Given the description of an element on the screen output the (x, y) to click on. 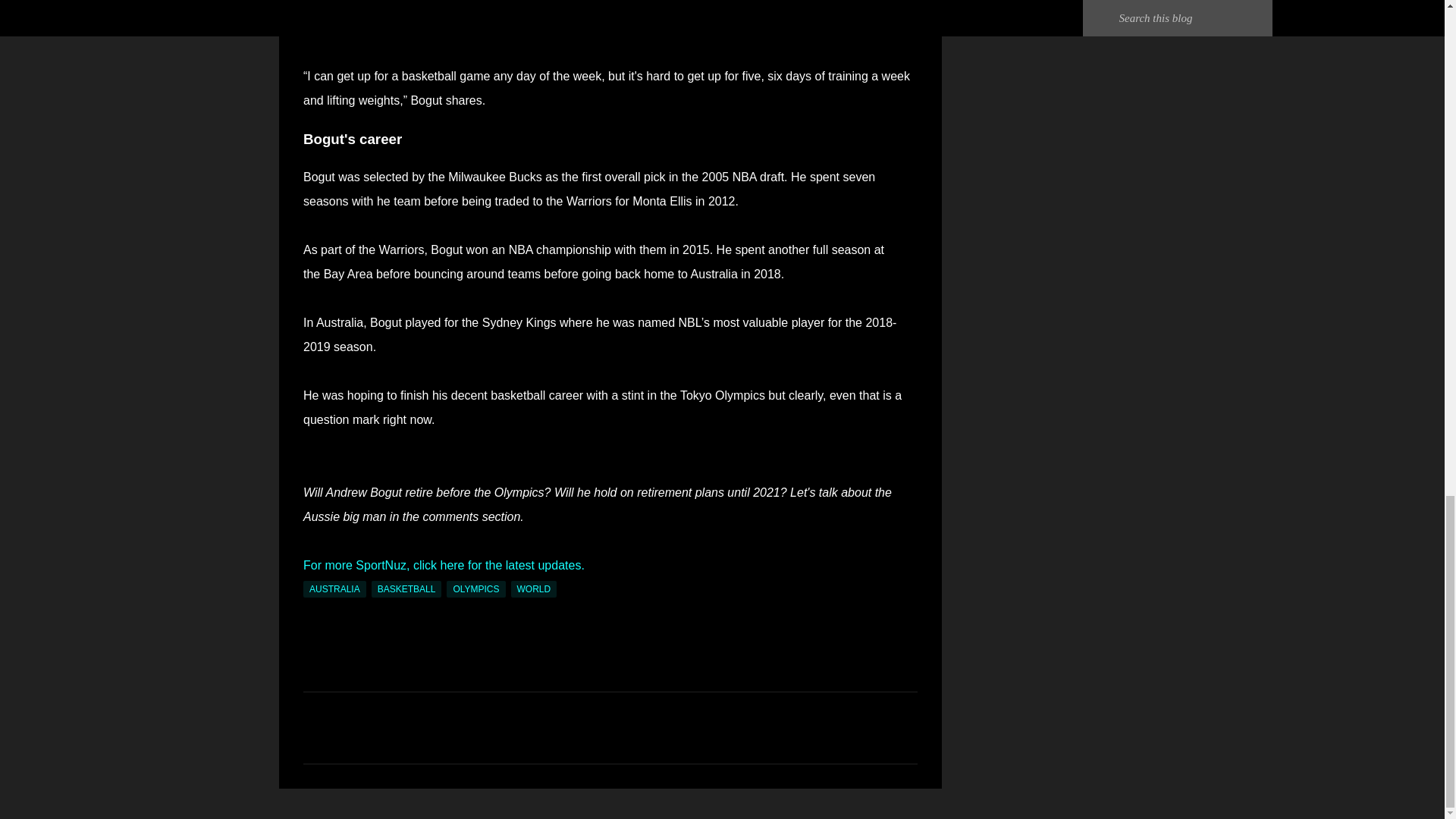
AUSTRALIA (334, 588)
WORLD (534, 588)
OLYMPICS (475, 588)
BASKETBALL (406, 588)
For more SportNuz, click here for the latest updates. (443, 564)
